Given the description of an element on the screen output the (x, y) to click on. 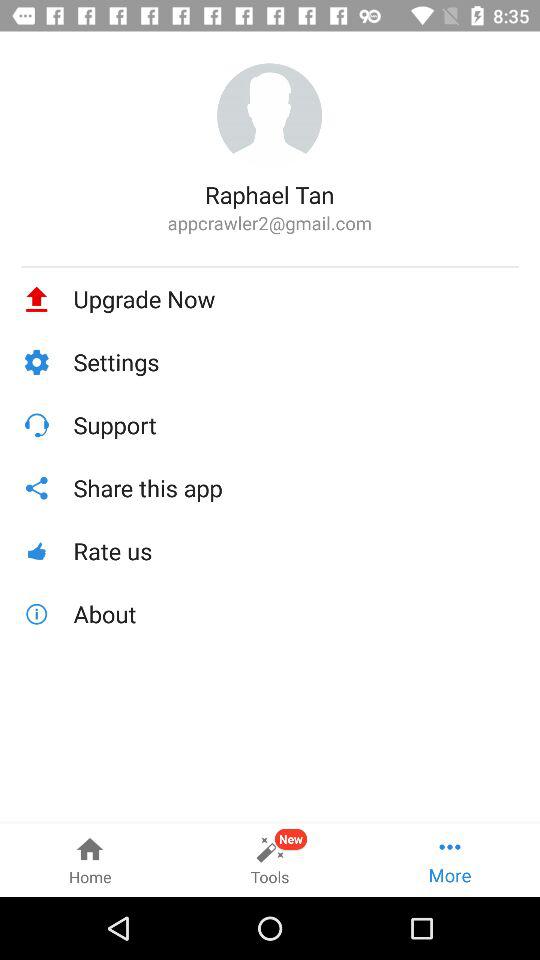
launch icon above share this app (296, 424)
